Given the description of an element on the screen output the (x, y) to click on. 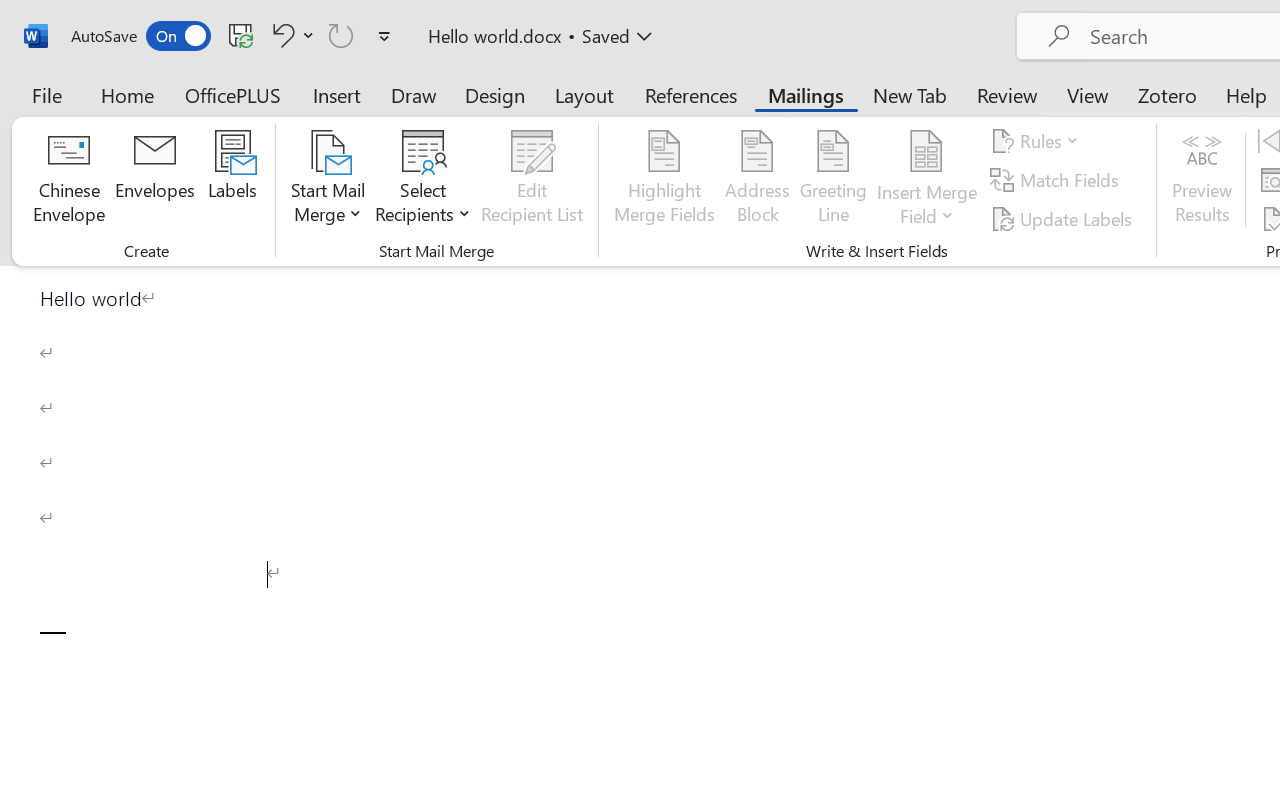
AutoSave (140, 35)
Undo Paragraph Formatting (290, 35)
Insert Merge Field (927, 151)
File Tab (46, 94)
Envelopes... (155, 179)
Can't Repeat (341, 35)
Greeting Line... (833, 179)
Select Recipients (423, 179)
Highlight Merge Fields (664, 179)
OfficePLUS (233, 94)
Layout (584, 94)
Labels... (232, 179)
Zotero (1166, 94)
